Given the description of an element on the screen output the (x, y) to click on. 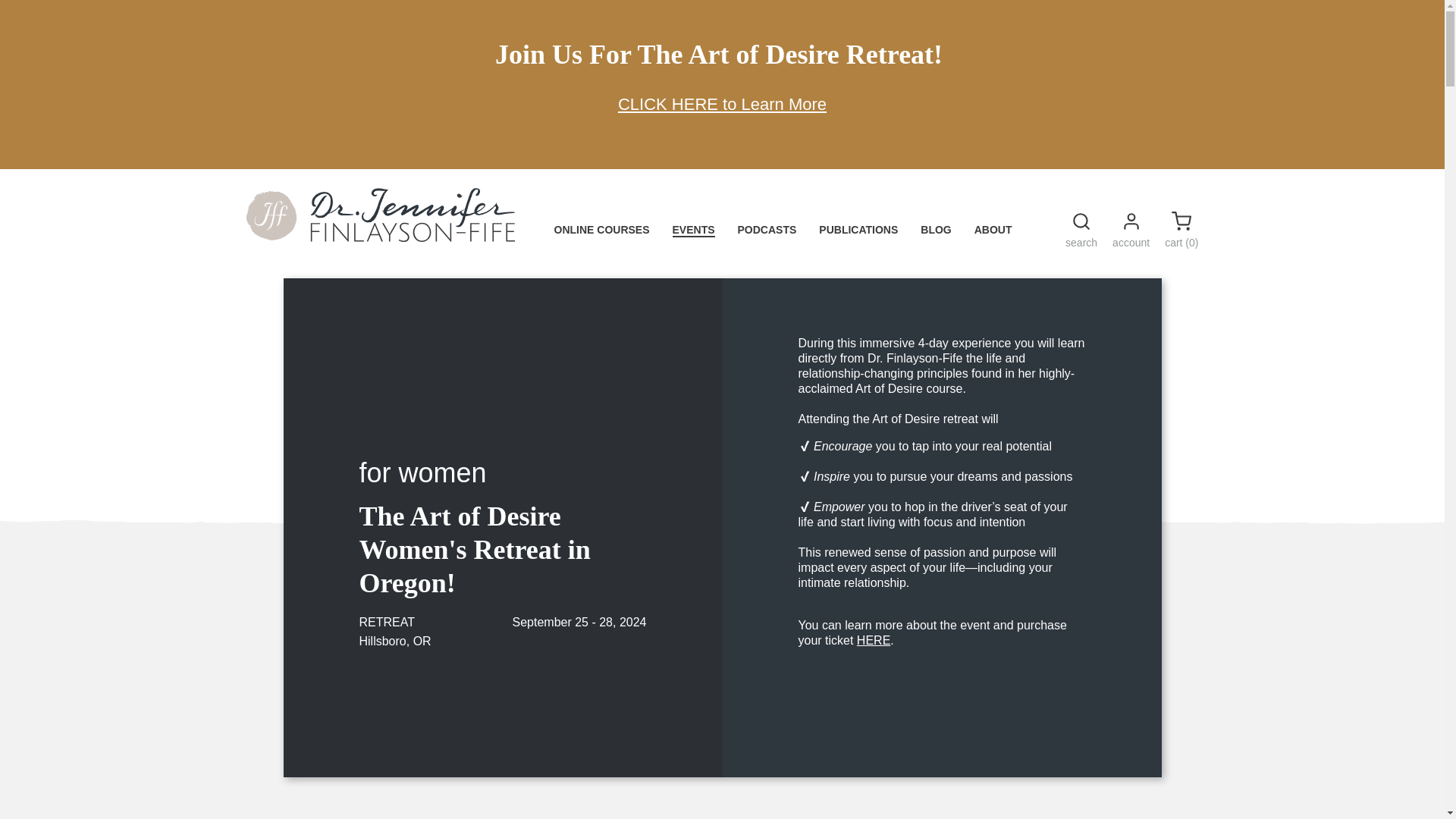
ONLINE COURSES (601, 230)
BLOG (935, 230)
Jennifer Finlayson-Fife, Ph.D (379, 236)
ABOUT (992, 230)
HERE (873, 640)
PUBLICATIONS (858, 230)
CLICK HERE to Learn More (722, 104)
Search (1080, 220)
PODCASTS (767, 230)
search (1081, 232)
